Given the description of an element on the screen output the (x, y) to click on. 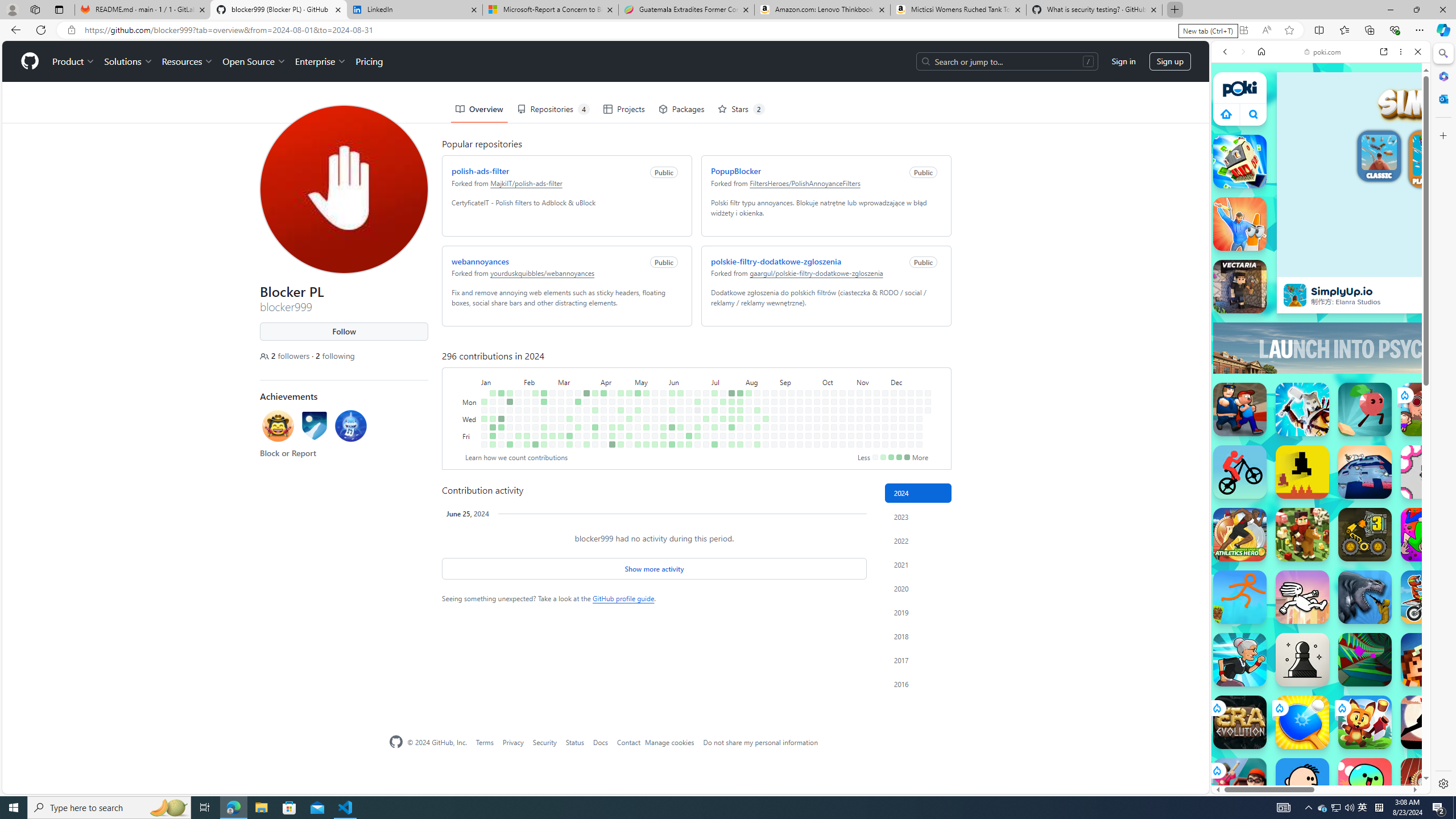
Stack City (1239, 161)
Sunday (471, 392)
1 contribution on May 25th. (655, 444)
No contributions on April 8th. (603, 401)
No contributions on February 29th. (552, 427)
No contributions on August 5th. (748, 401)
3 contributions on March 13th. (569, 418)
December (910, 380)
No contributions on October 29th. (850, 410)
No contributions on August 24th. (765, 444)
Pricing (368, 60)
Into the Pit Into the Pit (1427, 471)
No contributions on May 17th. (646, 435)
No contributions on March 22nd. (577, 435)
3 contributions on April 5th. (595, 435)
